Given the description of an element on the screen output the (x, y) to click on. 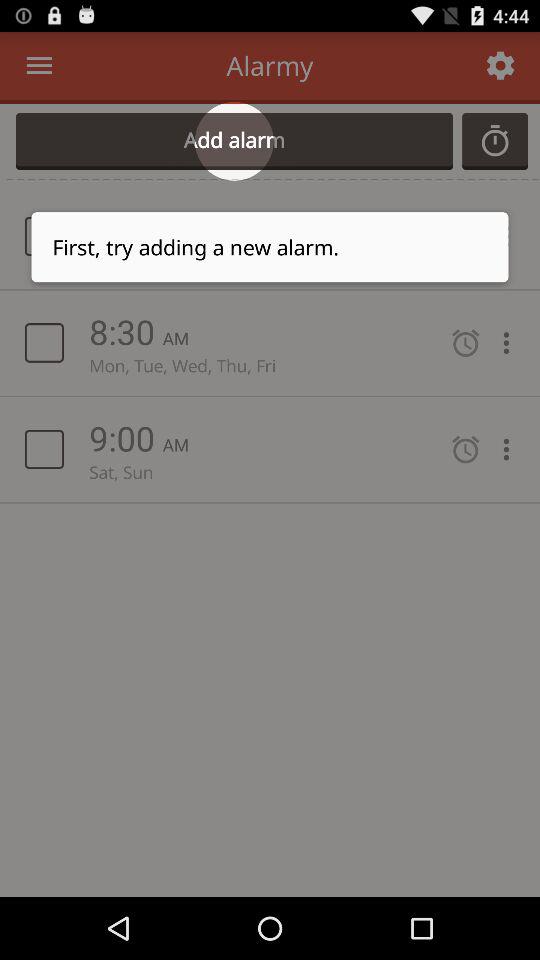
add a new alarm (495, 141)
